Given the description of an element on the screen output the (x, y) to click on. 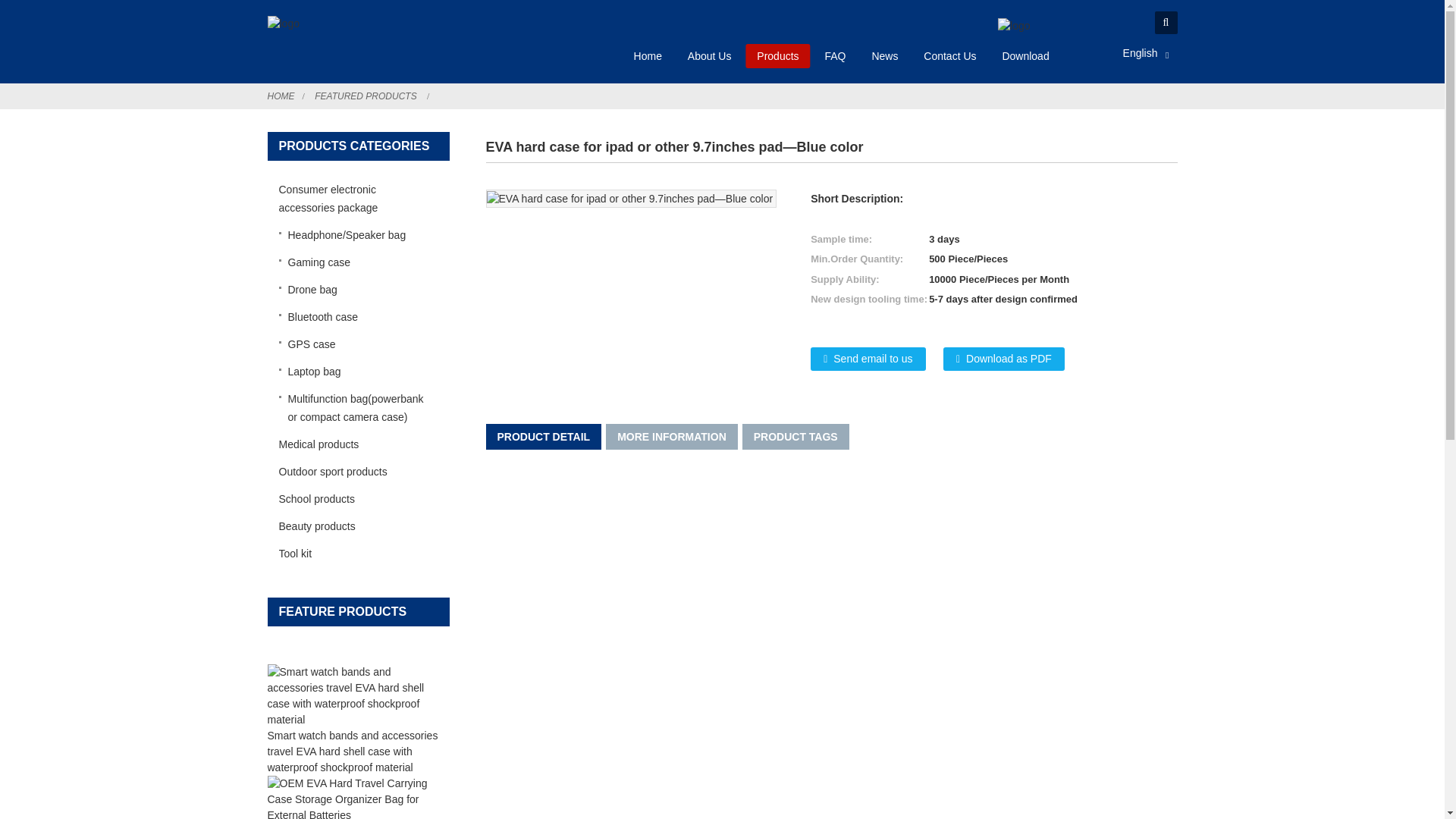
Contact Us (949, 55)
FAQ (834, 55)
Bluetooth case (352, 316)
English (1126, 52)
Products (777, 55)
HOME (280, 95)
GPS case (352, 343)
Featured Products (365, 95)
English (1126, 52)
Medical products (352, 443)
FEATURED PRODUCTS (365, 95)
Drone bag (352, 289)
Gaming case (352, 262)
News (884, 55)
Home (647, 55)
